Given the description of an element on the screen output the (x, y) to click on. 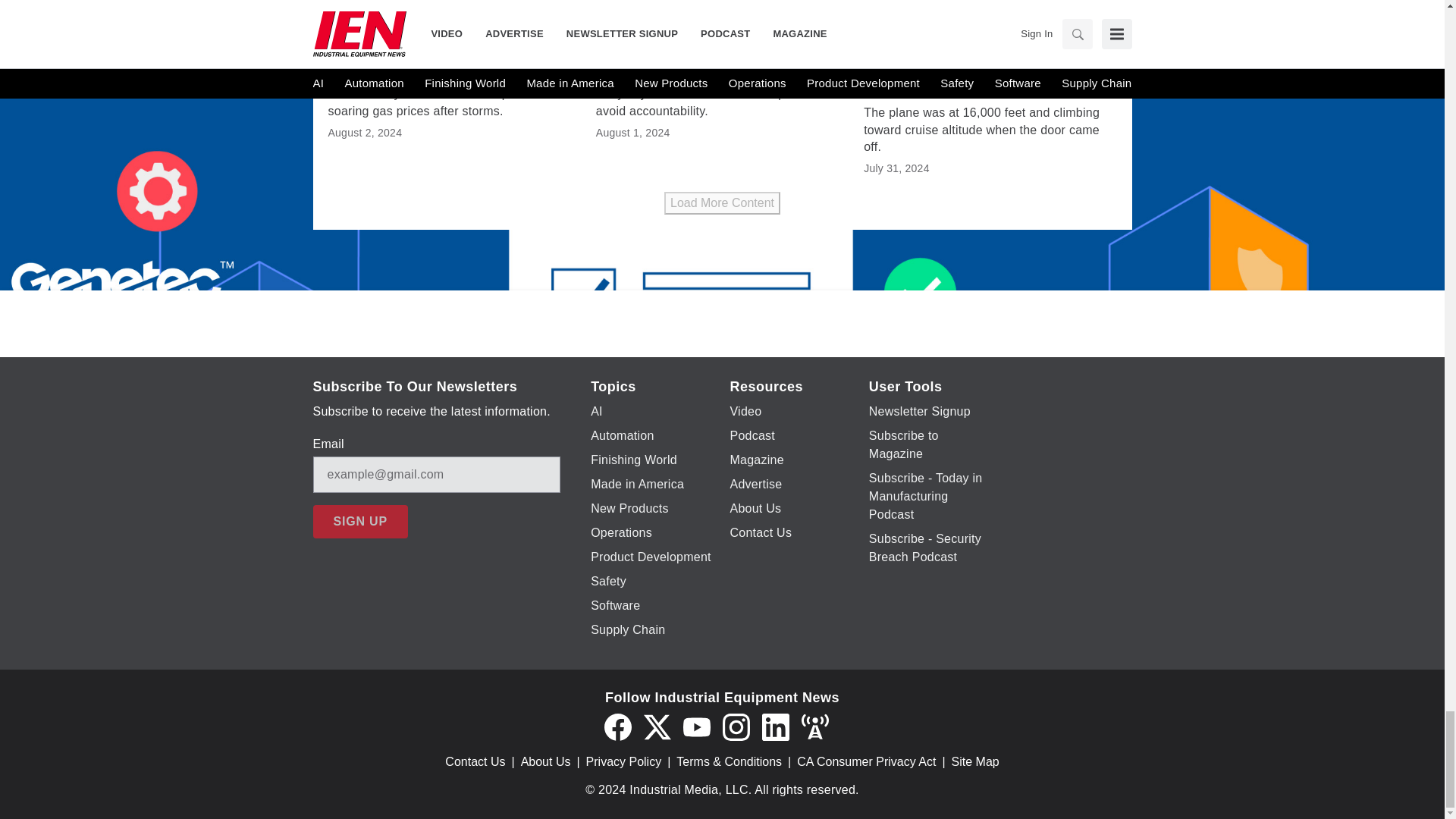
LinkedIn icon (775, 727)
Facebook icon (617, 727)
Twitter X icon (656, 727)
Instagram icon (735, 727)
YouTube icon (696, 727)
